Given the description of an element on the screen output the (x, y) to click on. 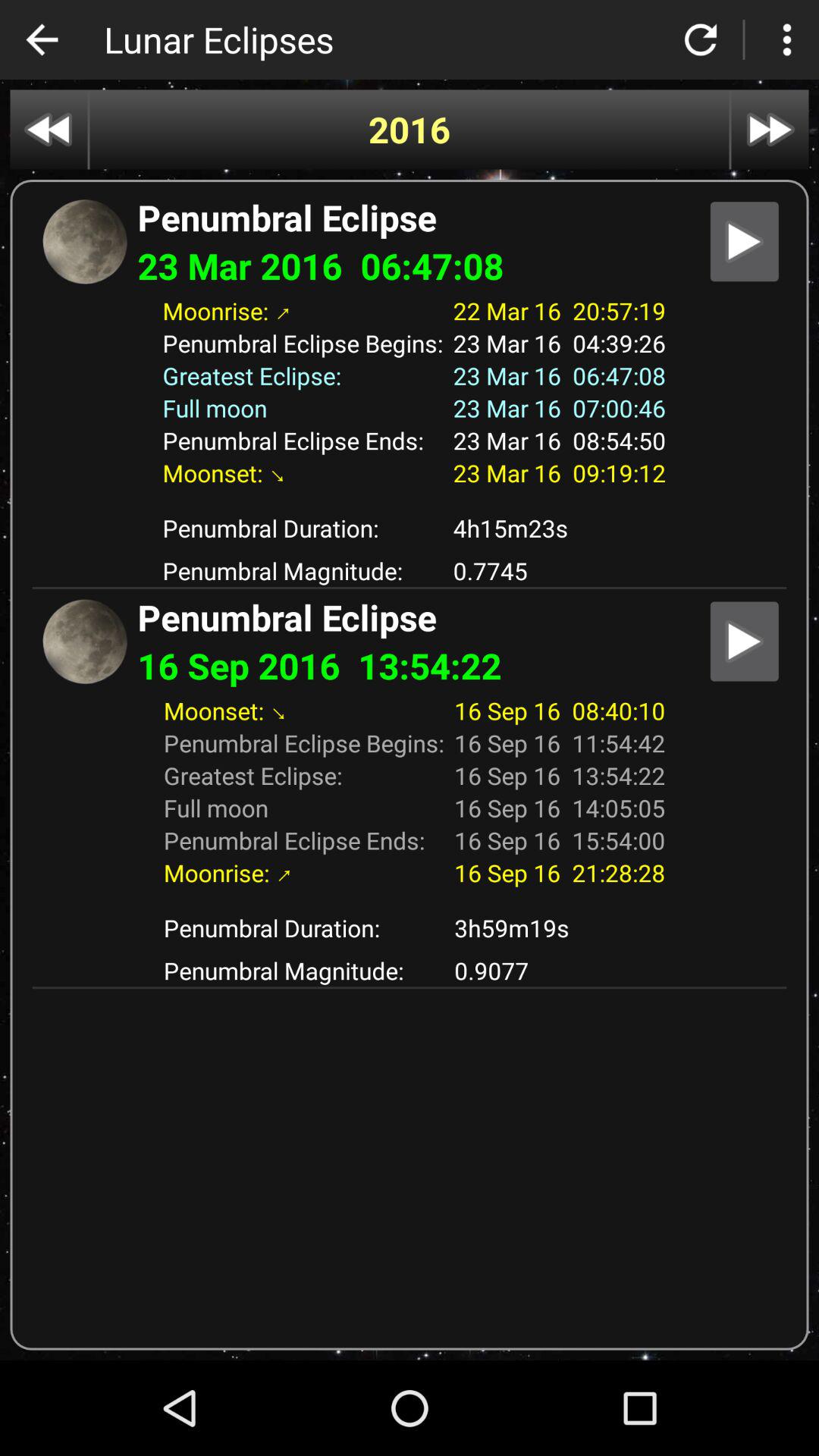
turn off icon above penumbral duration: app (409, 900)
